Given the description of an element on the screen output the (x, y) to click on. 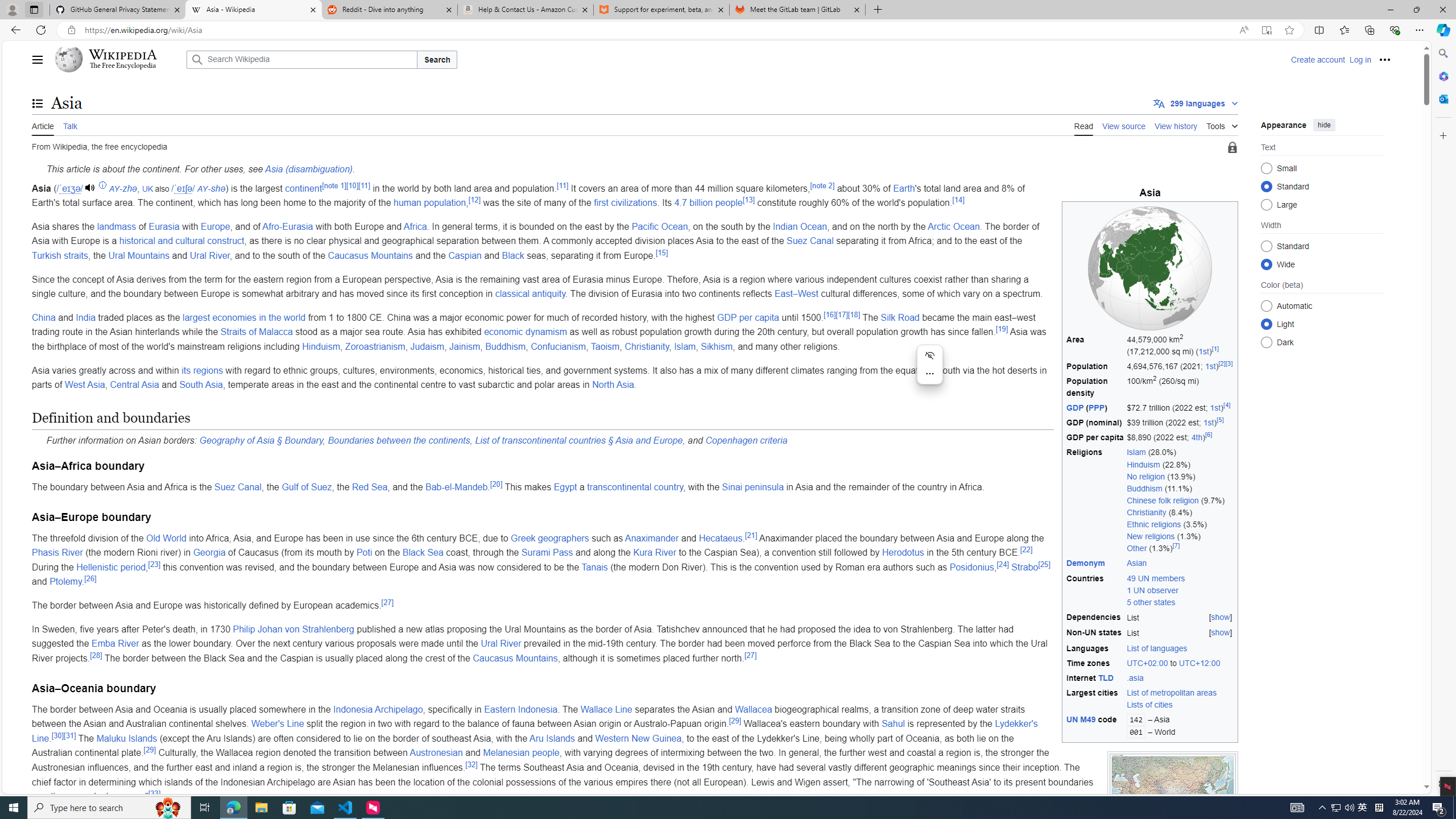
Toggle the table of contents (37, 103)
Countries (1095, 590)
Population (1095, 366)
List of languages (1179, 648)
Turkish straits (60, 255)
Islam (684, 346)
UTC+02:00 (1146, 663)
Egypt (564, 486)
continent (303, 188)
[33] (154, 792)
[26] (90, 578)
100/km2 (260/sq mi) (1179, 387)
